Given the description of an element on the screen output the (x, y) to click on. 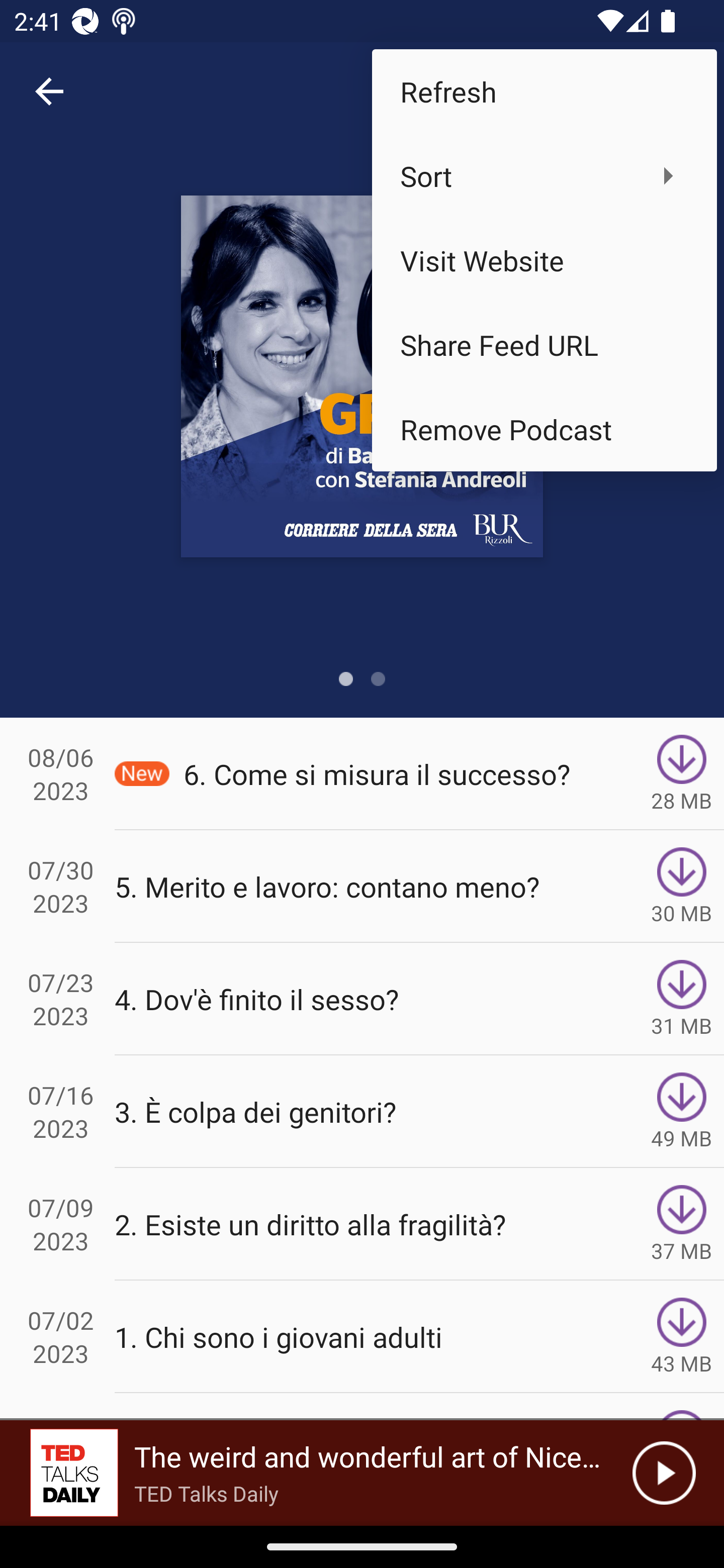
Refresh (544, 90)
Sort (544, 175)
Visit Website (544, 259)
Share Feed URL (544, 344)
Remove Podcast (544, 429)
